Given the description of an element on the screen output the (x, y) to click on. 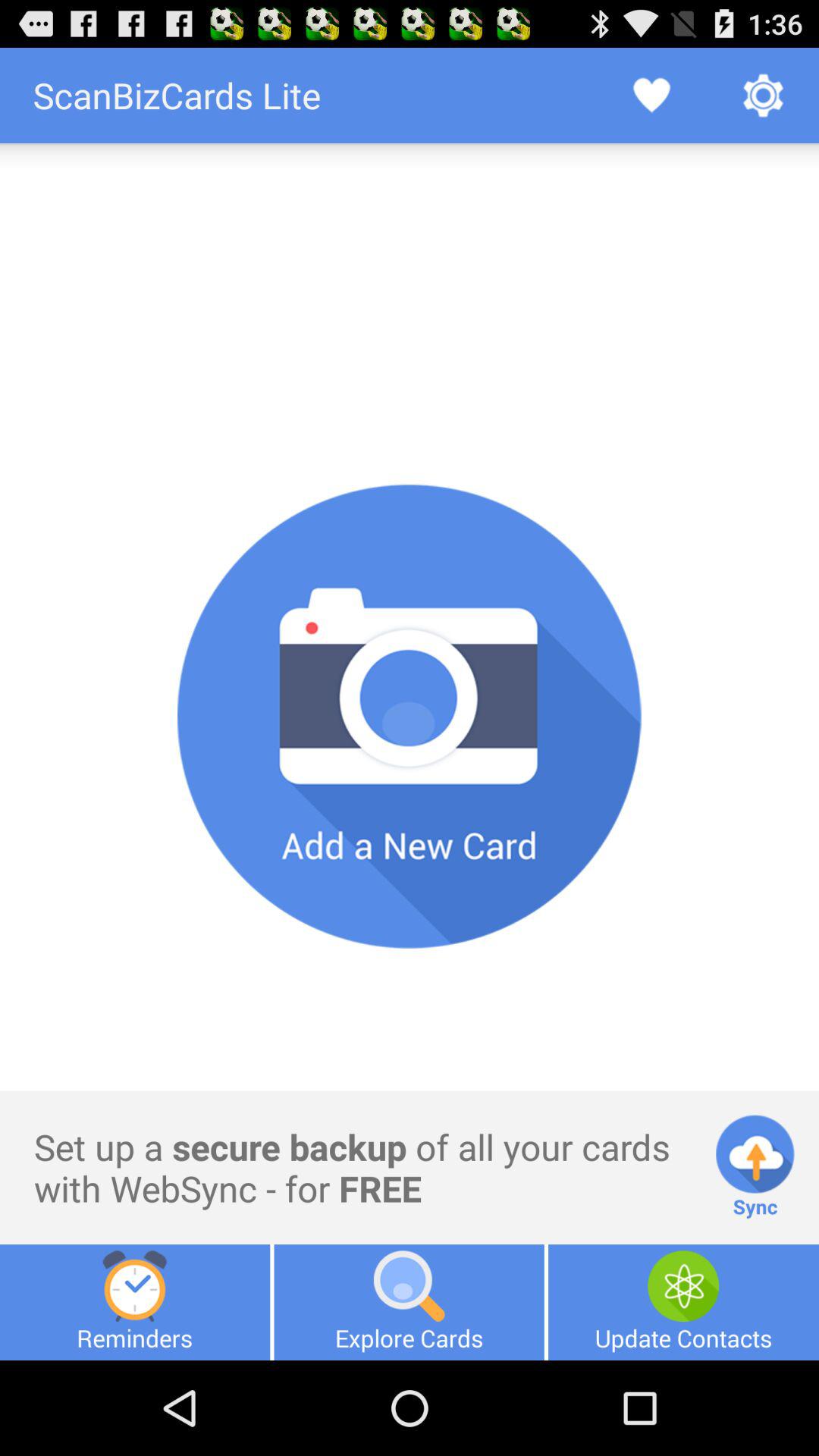
open camera (409, 716)
